Given the description of an element on the screen output the (x, y) to click on. 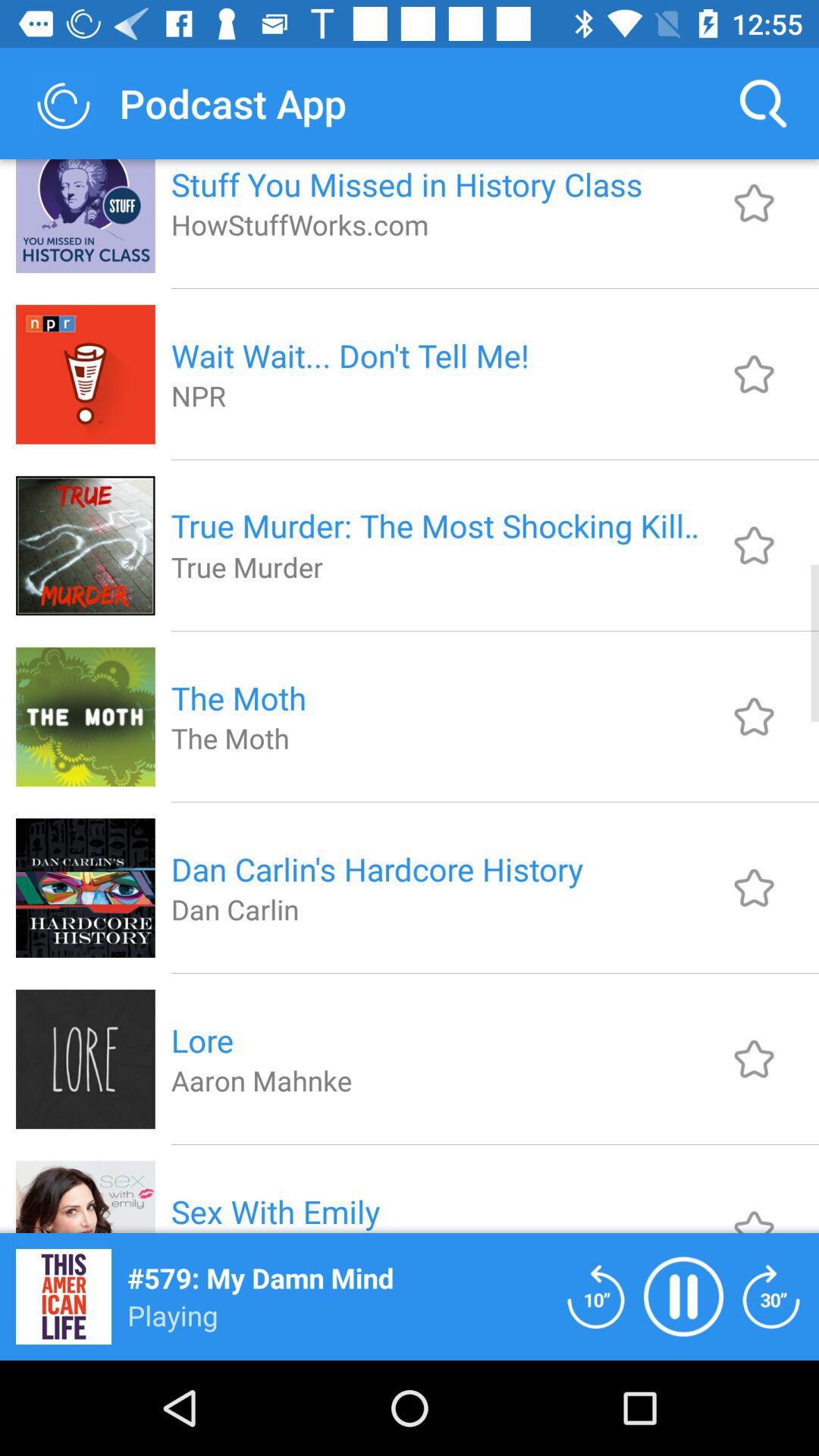
toggle favorite (754, 887)
